Given the description of an element on the screen output the (x, y) to click on. 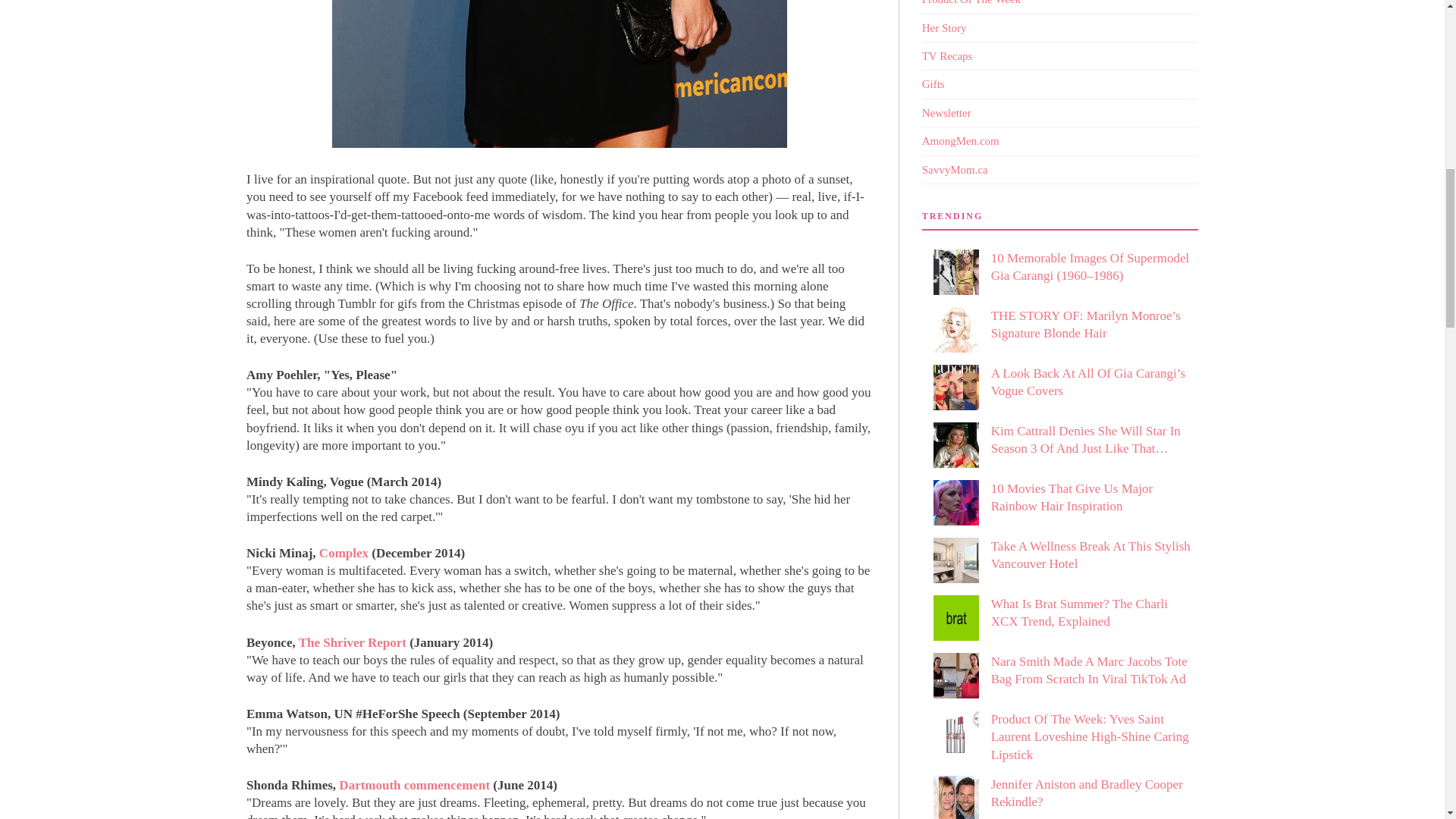
Complex (343, 553)
The Shriver Report (352, 642)
Dartmouth commencement (414, 785)
